Given the description of an element on the screen output the (x, y) to click on. 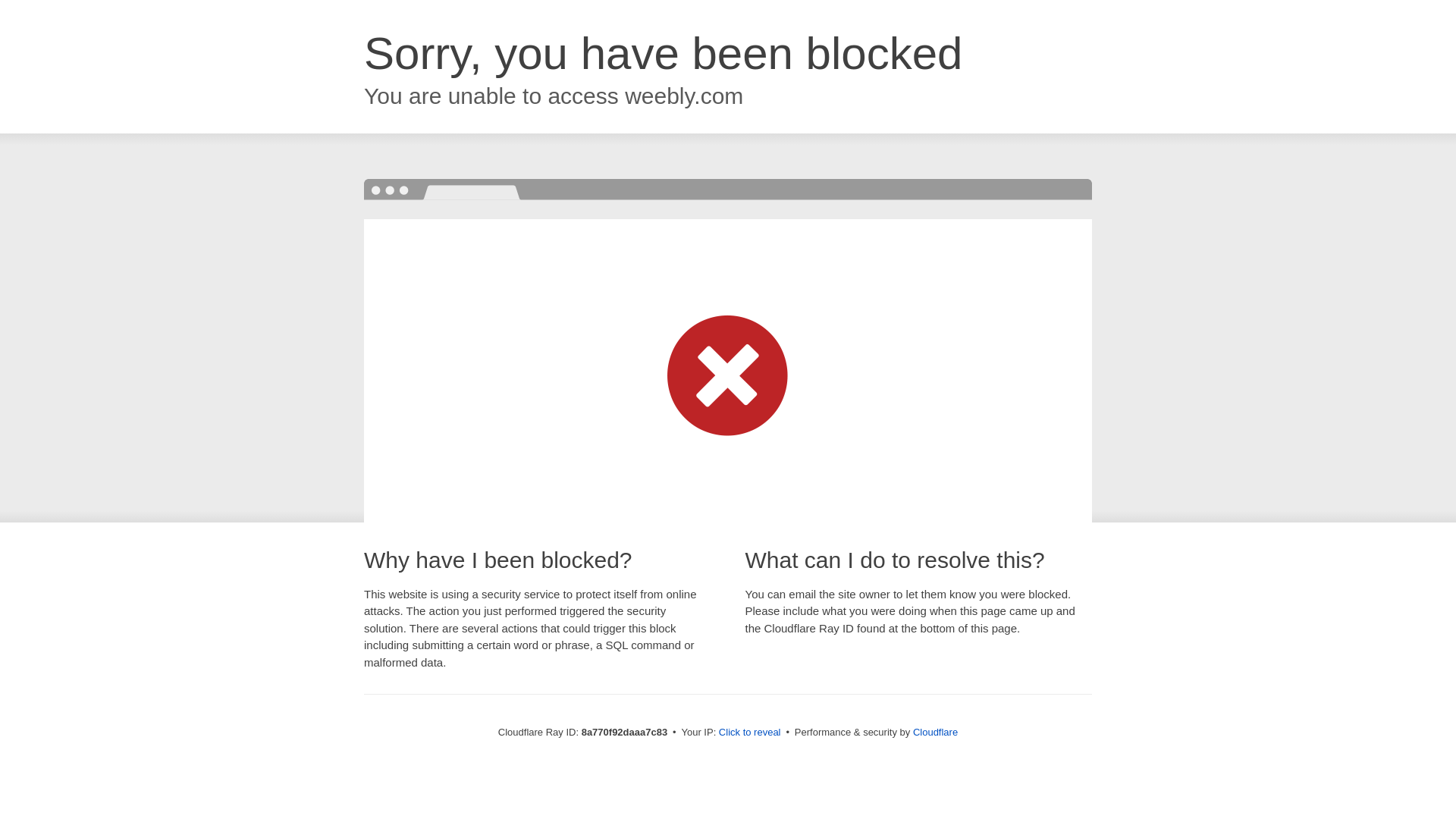
Click to reveal (749, 732)
Cloudflare (935, 731)
